Given the description of an element on the screen output the (x, y) to click on. 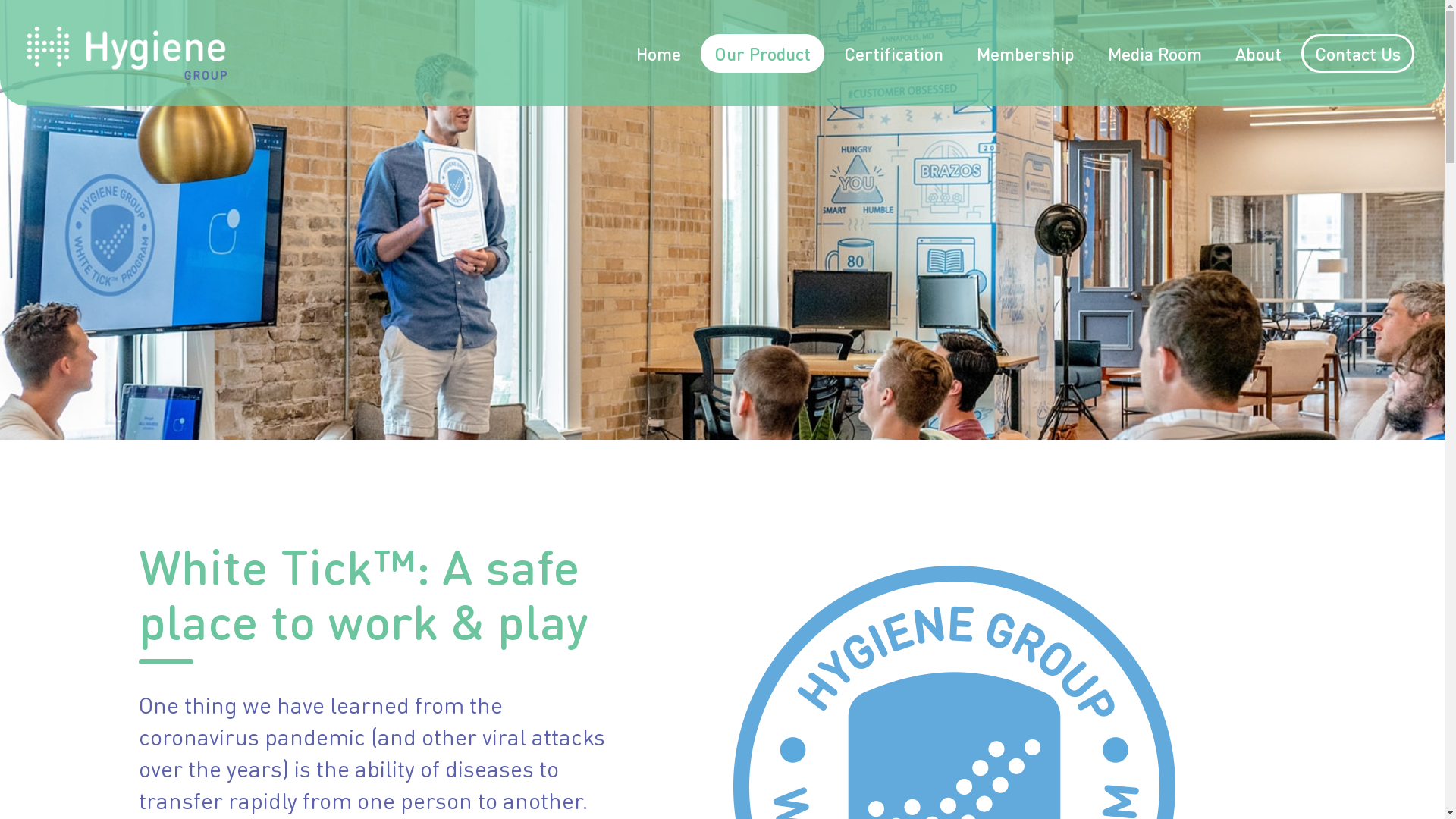
About Element type: text (1258, 52)
Contact Us Element type: text (1357, 52)
Home Element type: text (658, 52)
Certification Element type: text (893, 52)
Our Product Element type: text (762, 52)
Membership Element type: text (1025, 52)
Media Room Element type: text (1154, 52)
